Given the description of an element on the screen output the (x, y) to click on. 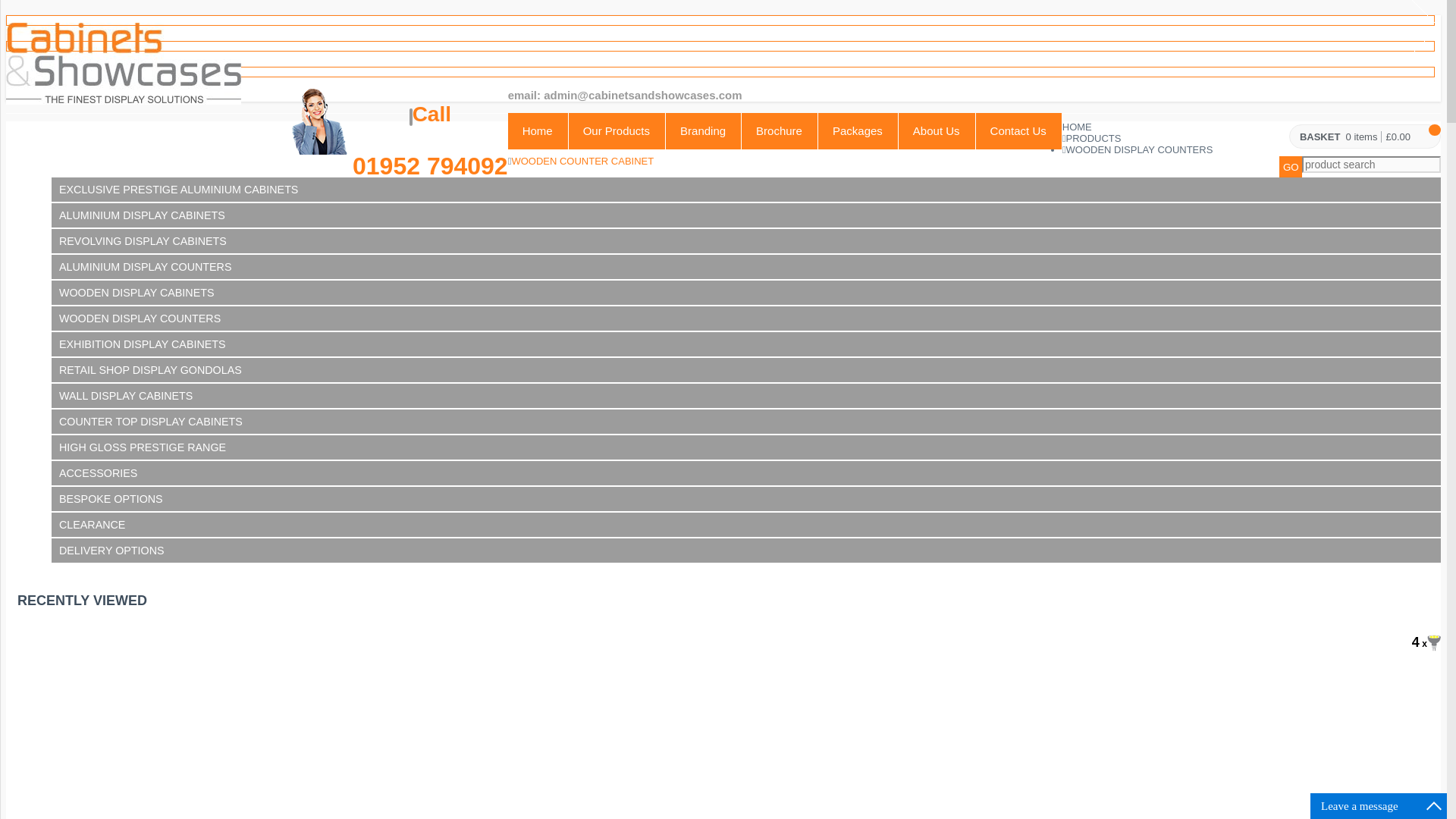
Home (538, 131)
Brochure (779, 131)
Packages (858, 131)
GO (1290, 167)
About Us (936, 131)
Contact Us (1018, 131)
Branding (703, 131)
Our Products (617, 131)
0 items (1361, 137)
